Given the description of an element on the screen output the (x, y) to click on. 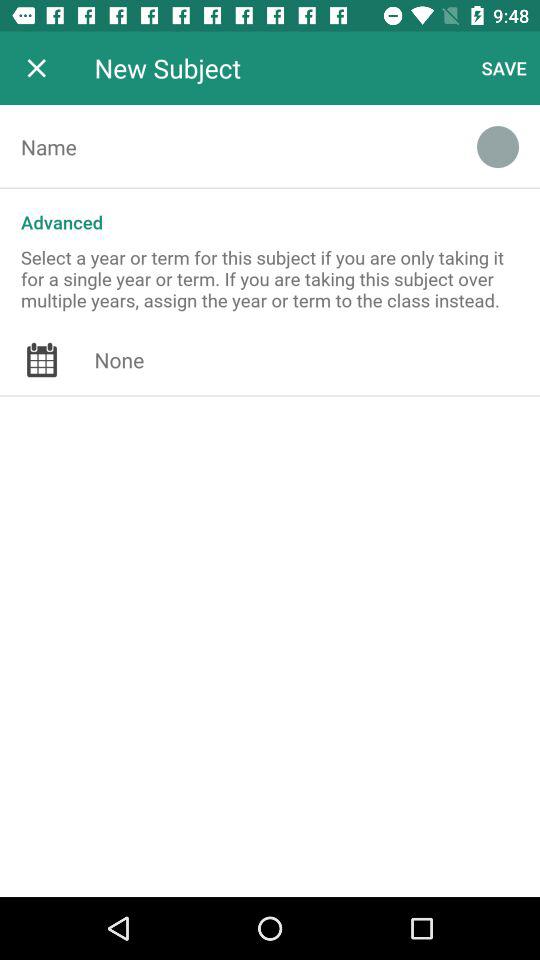
choose the save icon (504, 68)
